Given the description of an element on the screen output the (x, y) to click on. 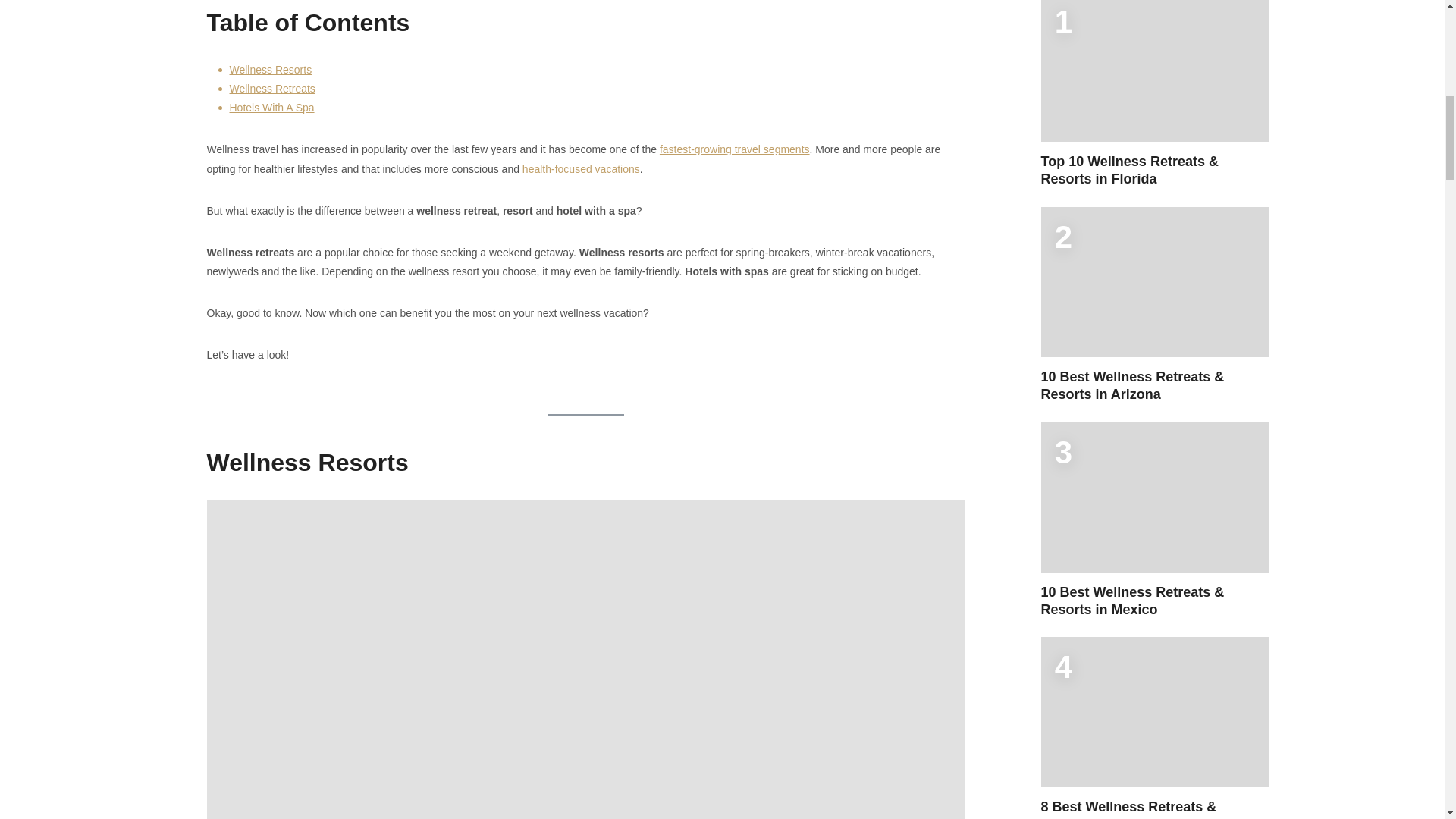
Wellness Resorts (269, 69)
Wellness Retreats (271, 88)
